Given the description of an element on the screen output the (x, y) to click on. 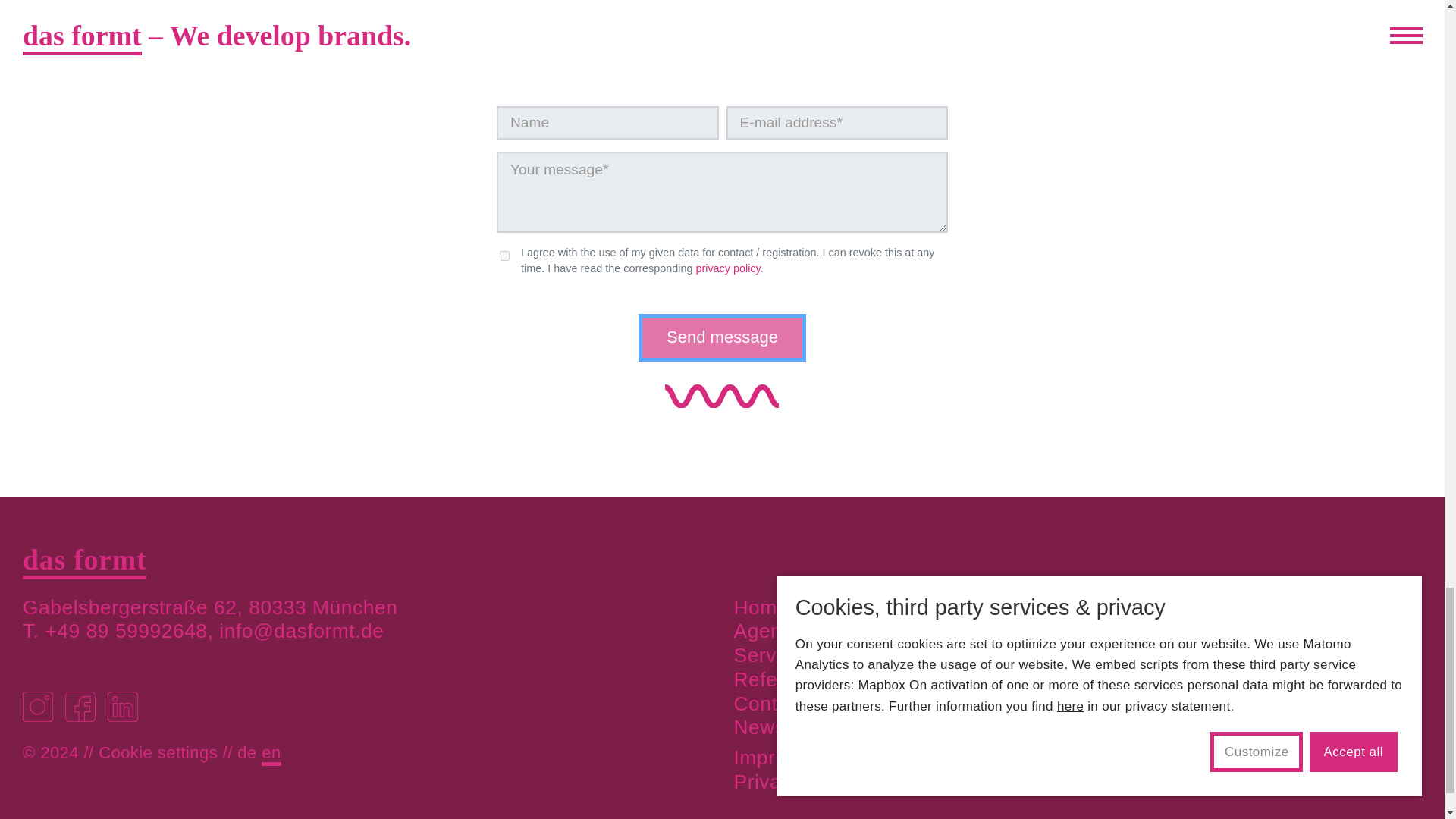
Send message (722, 337)
Cookie settings (157, 752)
on (504, 255)
das formt (85, 561)
de (246, 752)
privacy policy (727, 268)
